Given the description of an element on the screen output the (x, y) to click on. 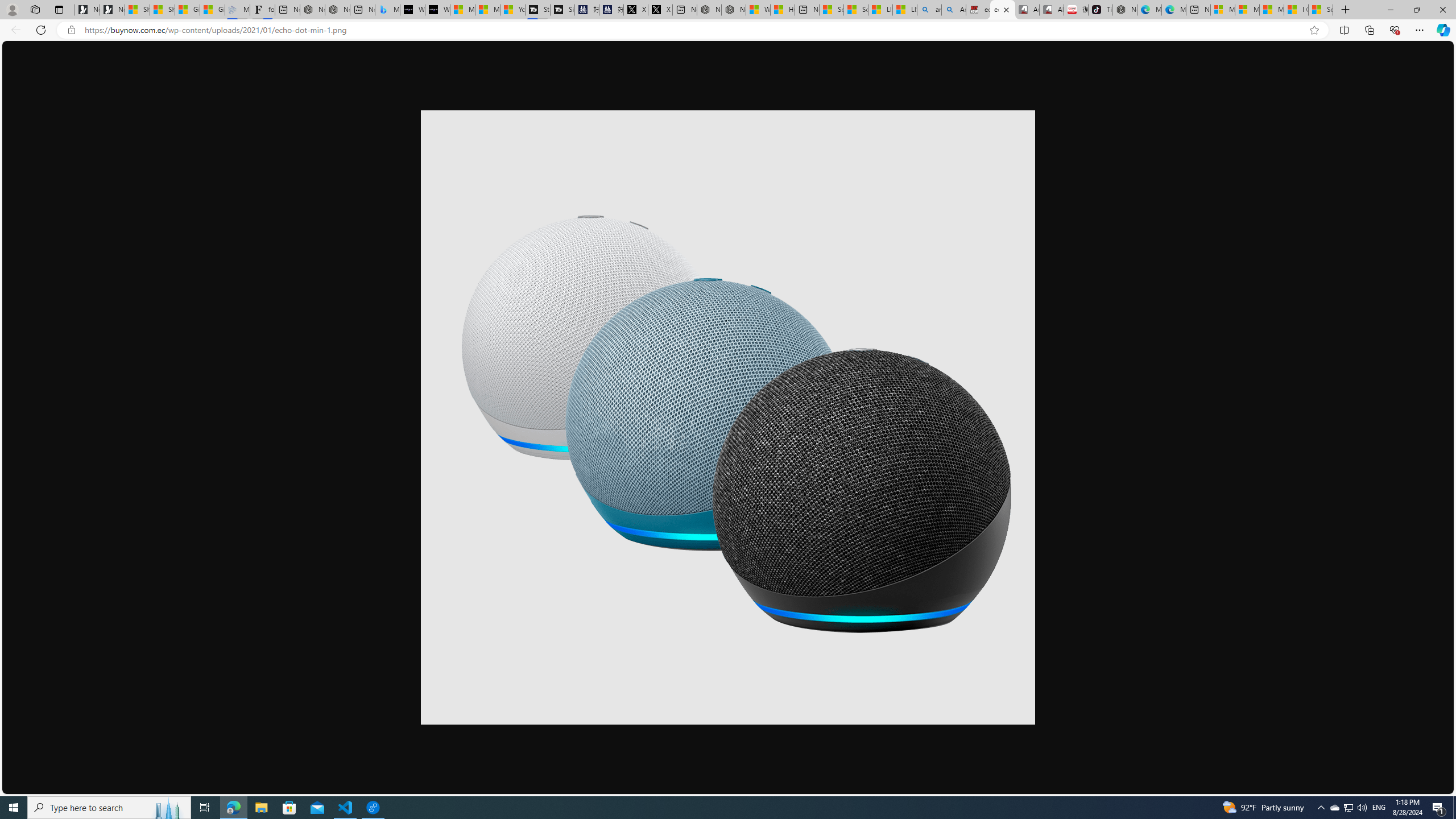
Amazon Echo Dot PNG - Search Images (953, 9)
I Gained 20 Pounds of Muscle in 30 Days! | Watch (1296, 9)
Newsletter Sign Up (111, 9)
